Given the description of an element on the screen output the (x, y) to click on. 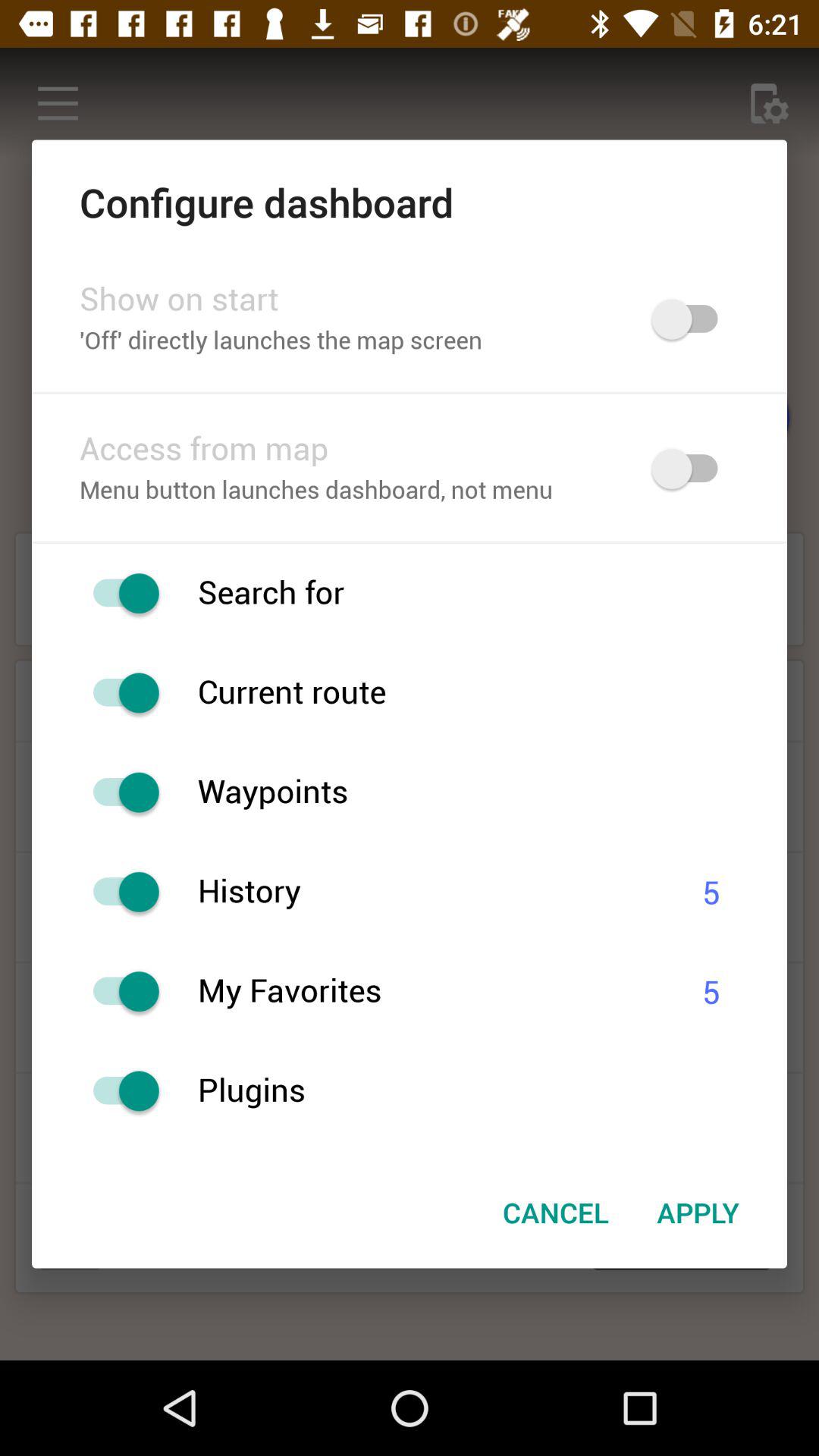
flip to history (430, 891)
